Given the description of an element on the screen output the (x, y) to click on. 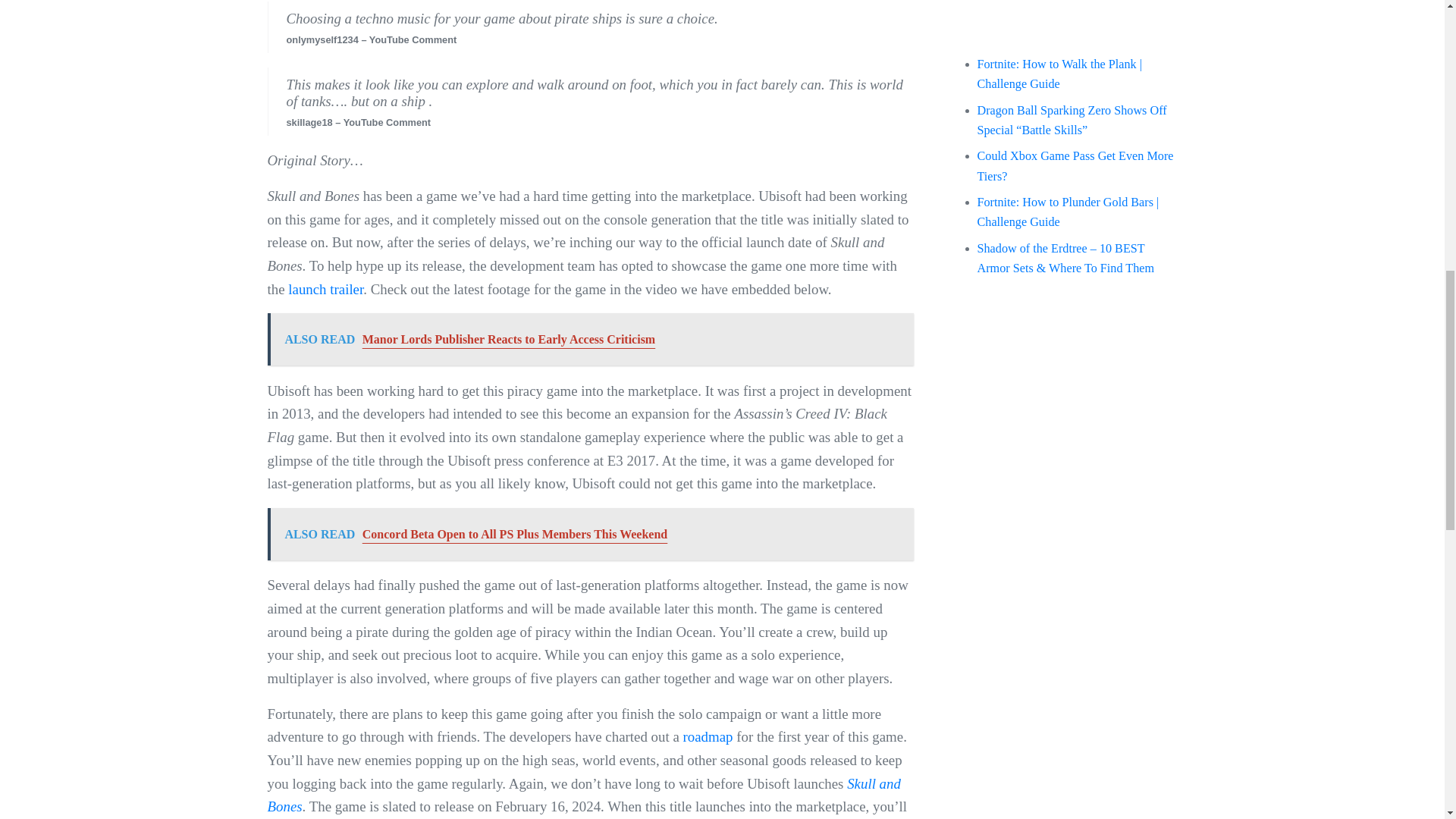
launch trailer (325, 289)
roadmap (709, 736)
Skull and Bones (582, 794)
